Given the description of an element on the screen output the (x, y) to click on. 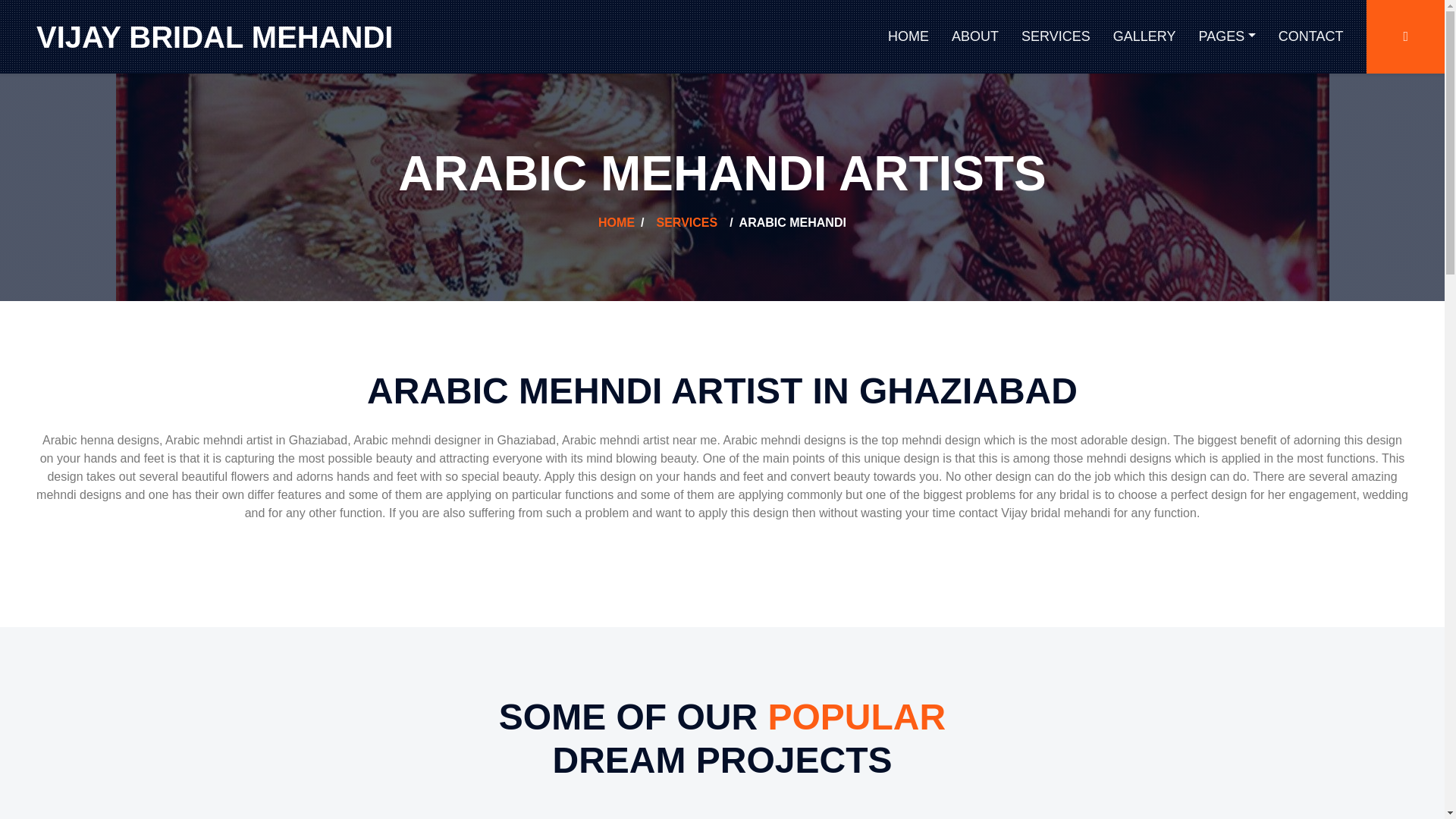
VIJAY BRIDAL MEHANDI (214, 36)
HOME (616, 222)
SERVICES (1056, 36)
SERVICES (686, 222)
GALLERY (1145, 36)
CONTACT (1310, 36)
PAGES (1226, 36)
ABOUT (975, 36)
